Given the description of an element on the screen output the (x, y) to click on. 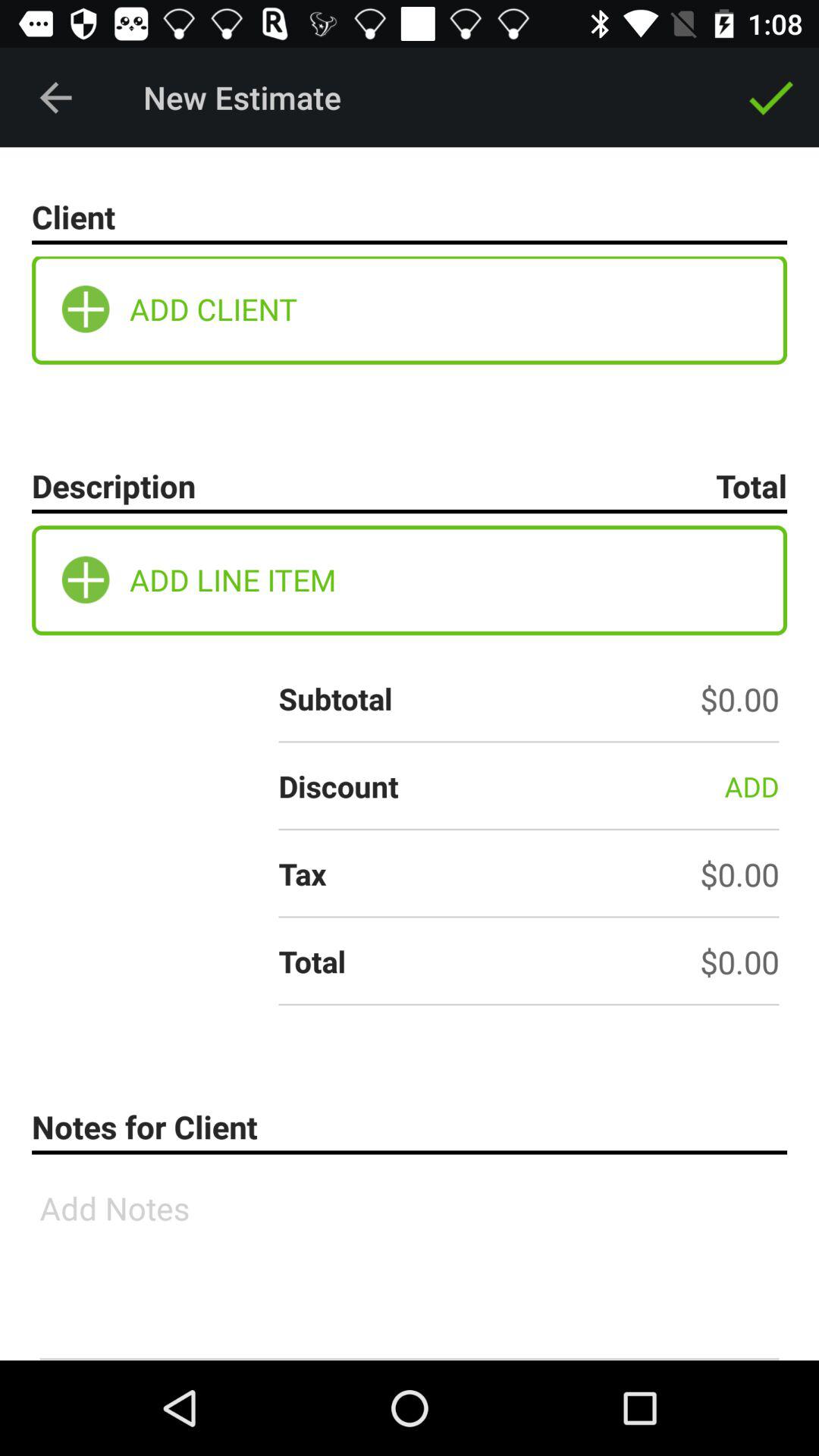
launch item at the top right corner (771, 97)
